Given the description of an element on the screen output the (x, y) to click on. 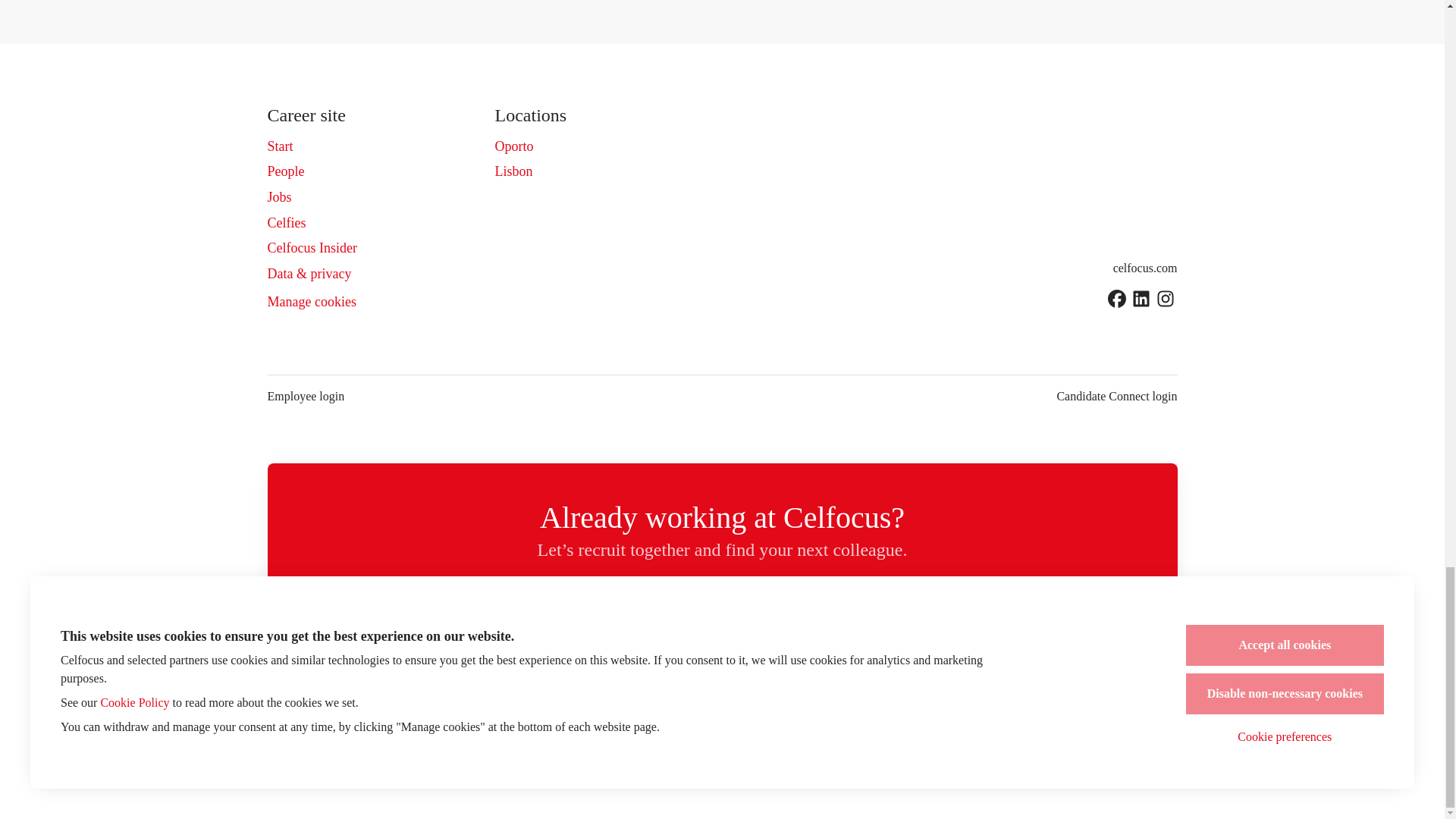
Oporto (513, 146)
Joana Fernandes Costa (685, 676)
Catarina Leirinha (834, 676)
Celfocus Insider (311, 247)
Catarina Silva (536, 676)
Lisbon (513, 170)
Ana Cruz (982, 676)
Start (279, 146)
linkedin (1140, 299)
People (285, 170)
